Given the description of an element on the screen output the (x, y) to click on. 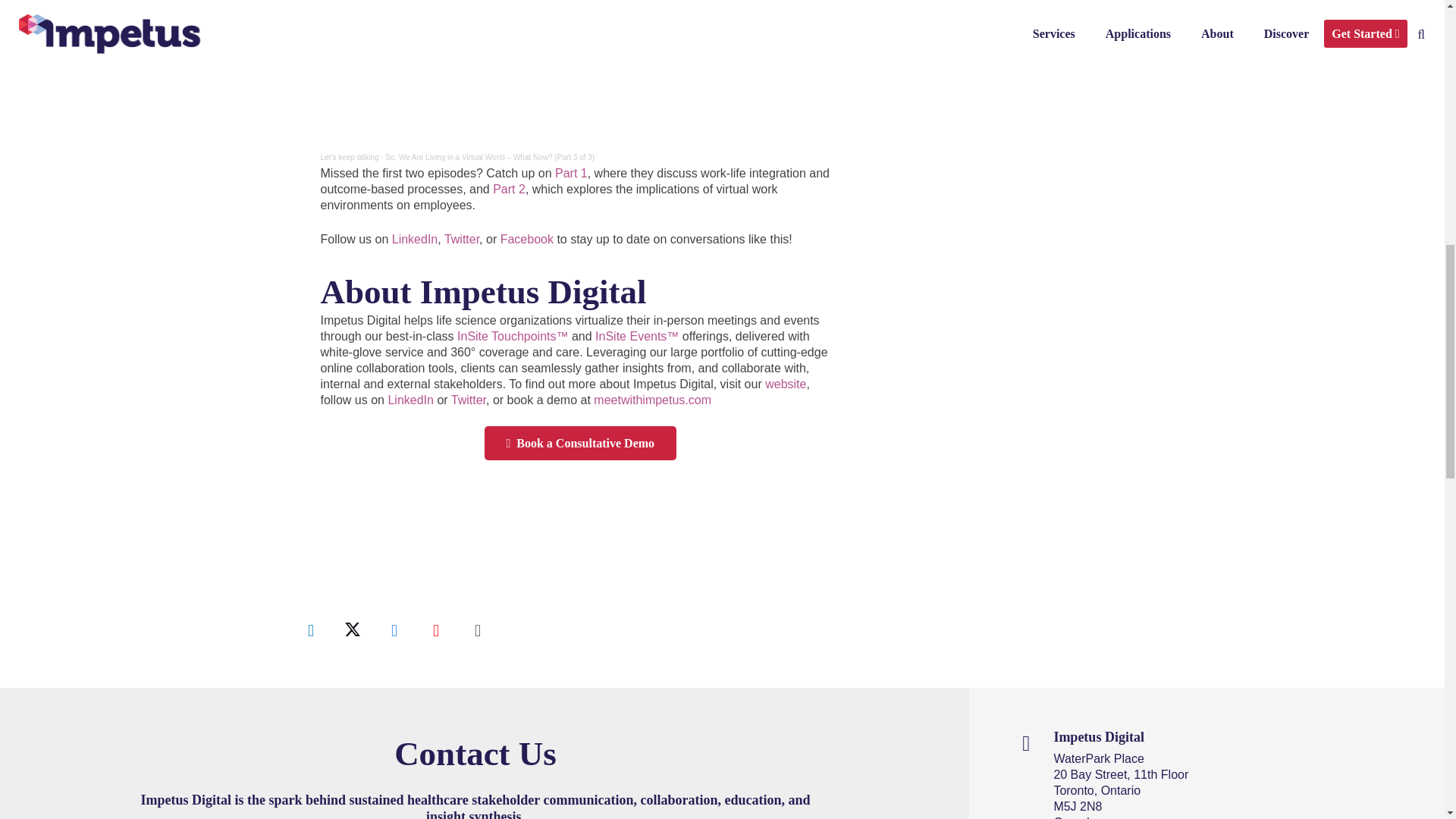
Let's keep talking (349, 157)
YouTube (435, 630)
LinkedIn (310, 630)
Facebook (393, 630)
Twitter (352, 630)
Podcast (477, 630)
